Given the description of an element on the screen output the (x, y) to click on. 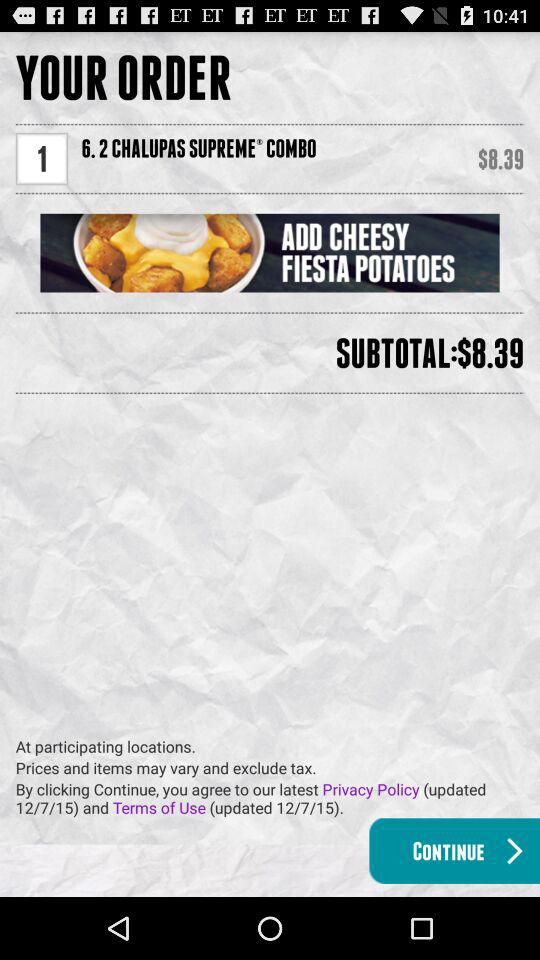
click icon below the prices and items app (277, 798)
